Given the description of an element on the screen output the (x, y) to click on. 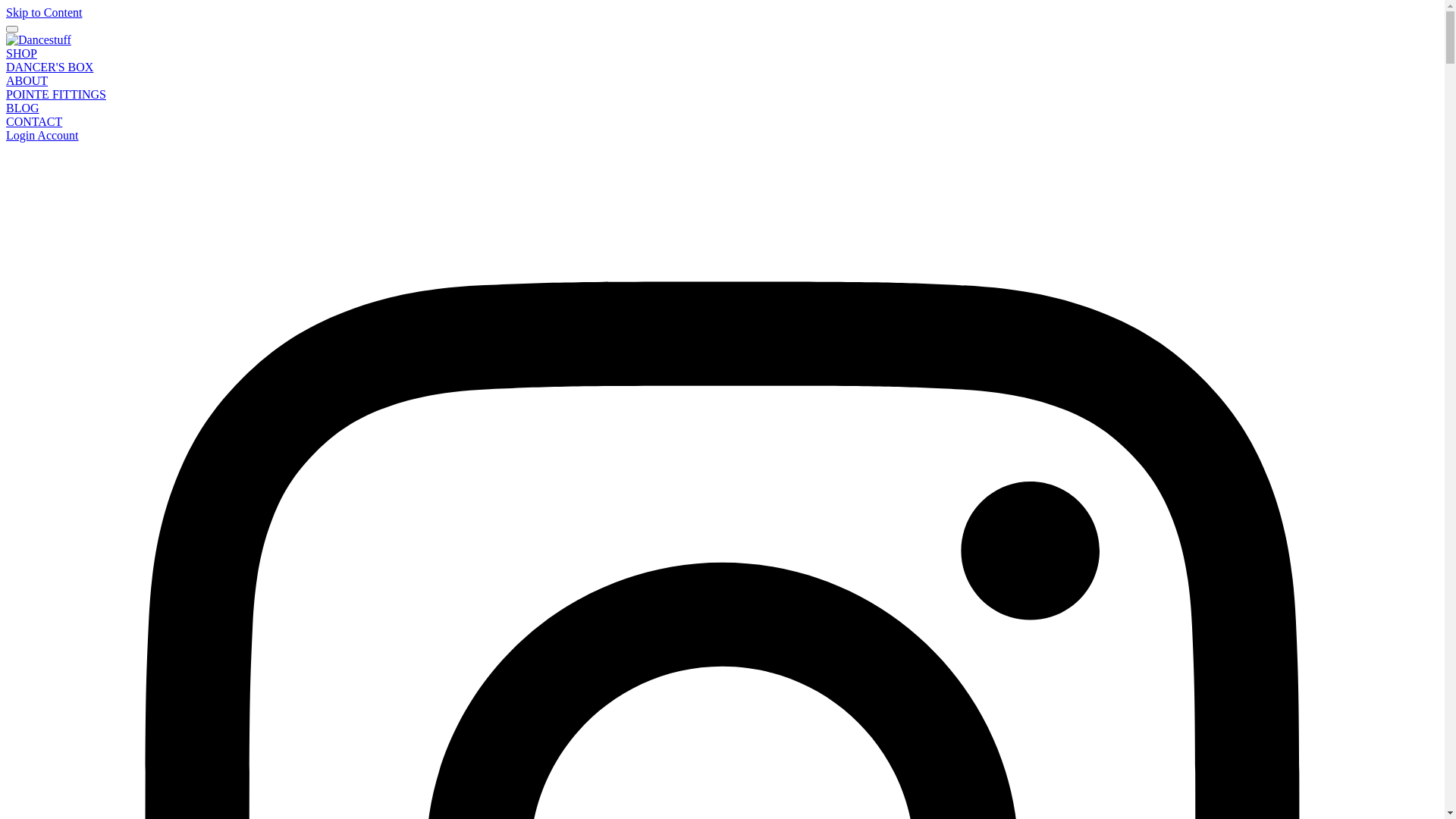
ABOUT Element type: text (26, 80)
SHOP Element type: text (21, 53)
POINTE FITTINGS Element type: text (56, 93)
CONTACT Element type: text (34, 121)
Login Account Element type: text (42, 134)
DANCER'S BOX Element type: text (49, 66)
BLOG Element type: text (22, 107)
Skip to Content Element type: text (43, 12)
